Given the description of an element on the screen output the (x, y) to click on. 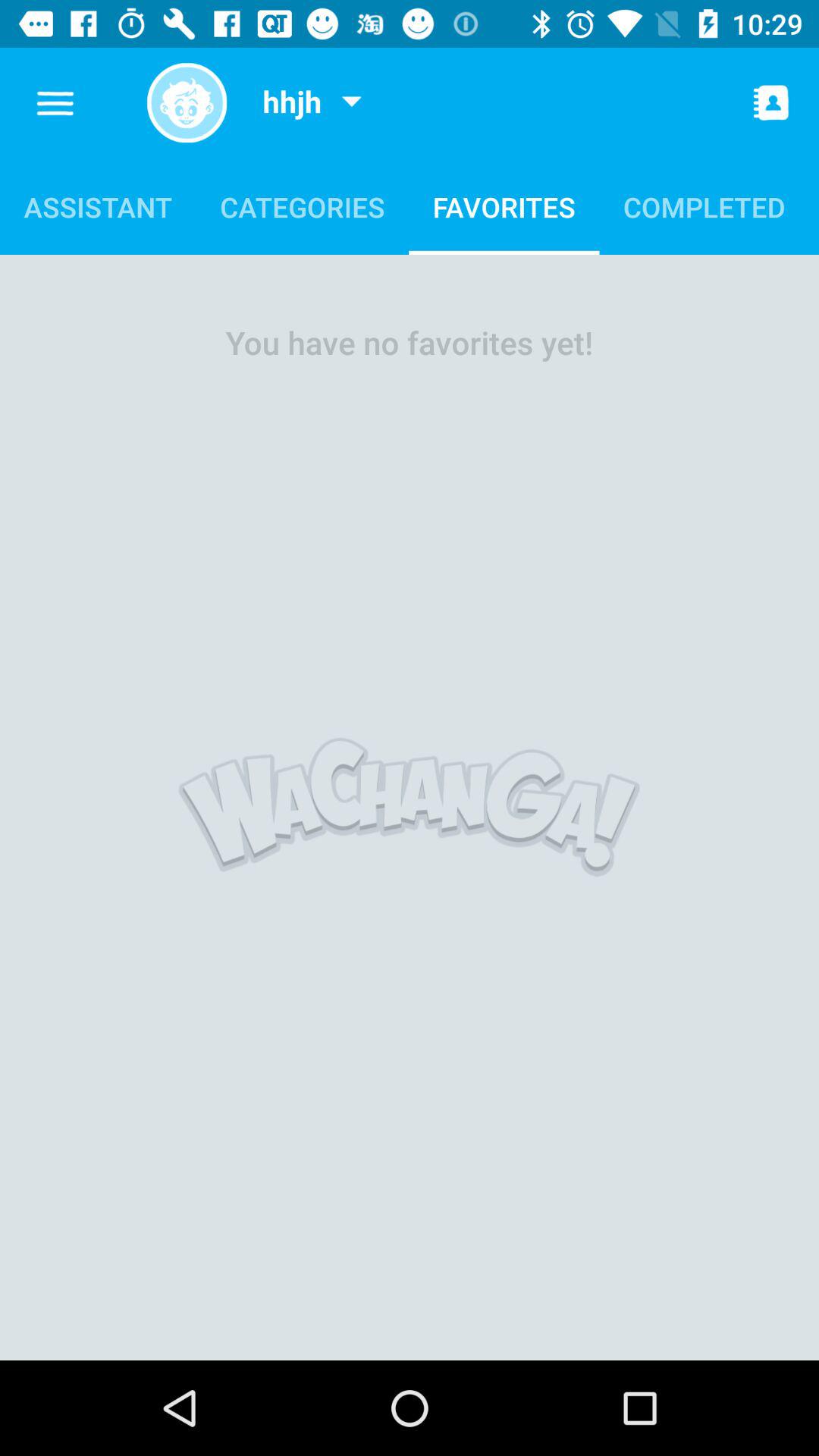
taggle the profile (186, 102)
